Given the description of an element on the screen output the (x, y) to click on. 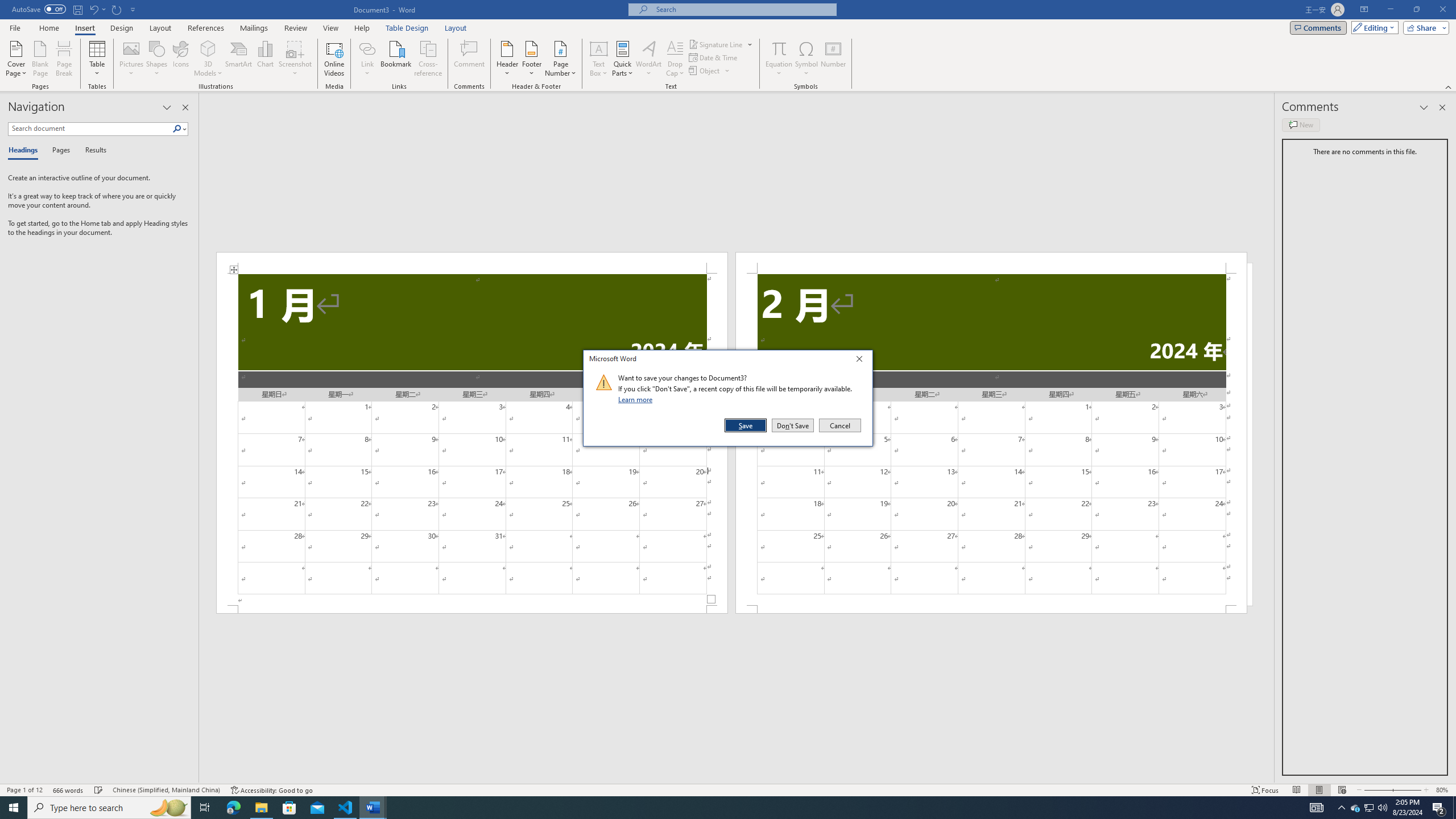
Cross-reference... (1368, 807)
Notification Chevron (428, 58)
Number... (1341, 807)
Link (833, 58)
Cancel (367, 58)
Comment (839, 425)
Page Number Page 1 of 12 (469, 58)
WordArt (24, 790)
